Given the description of an element on the screen output the (x, y) to click on. 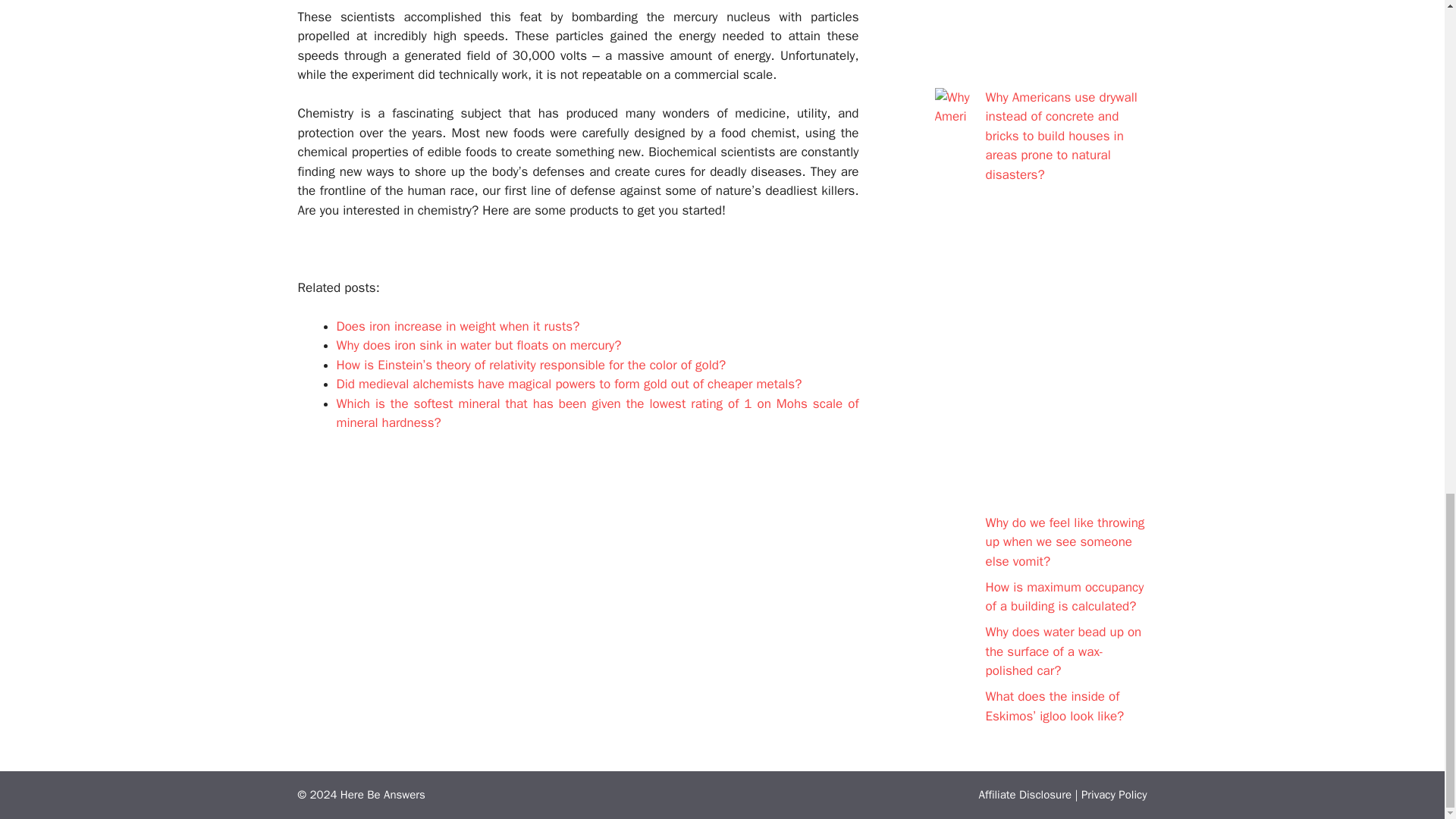
Why does iron sink in water but floats on mercury? (478, 344)
Does iron increase in weight when it rusts? (457, 326)
